Given the description of an element on the screen output the (x, y) to click on. 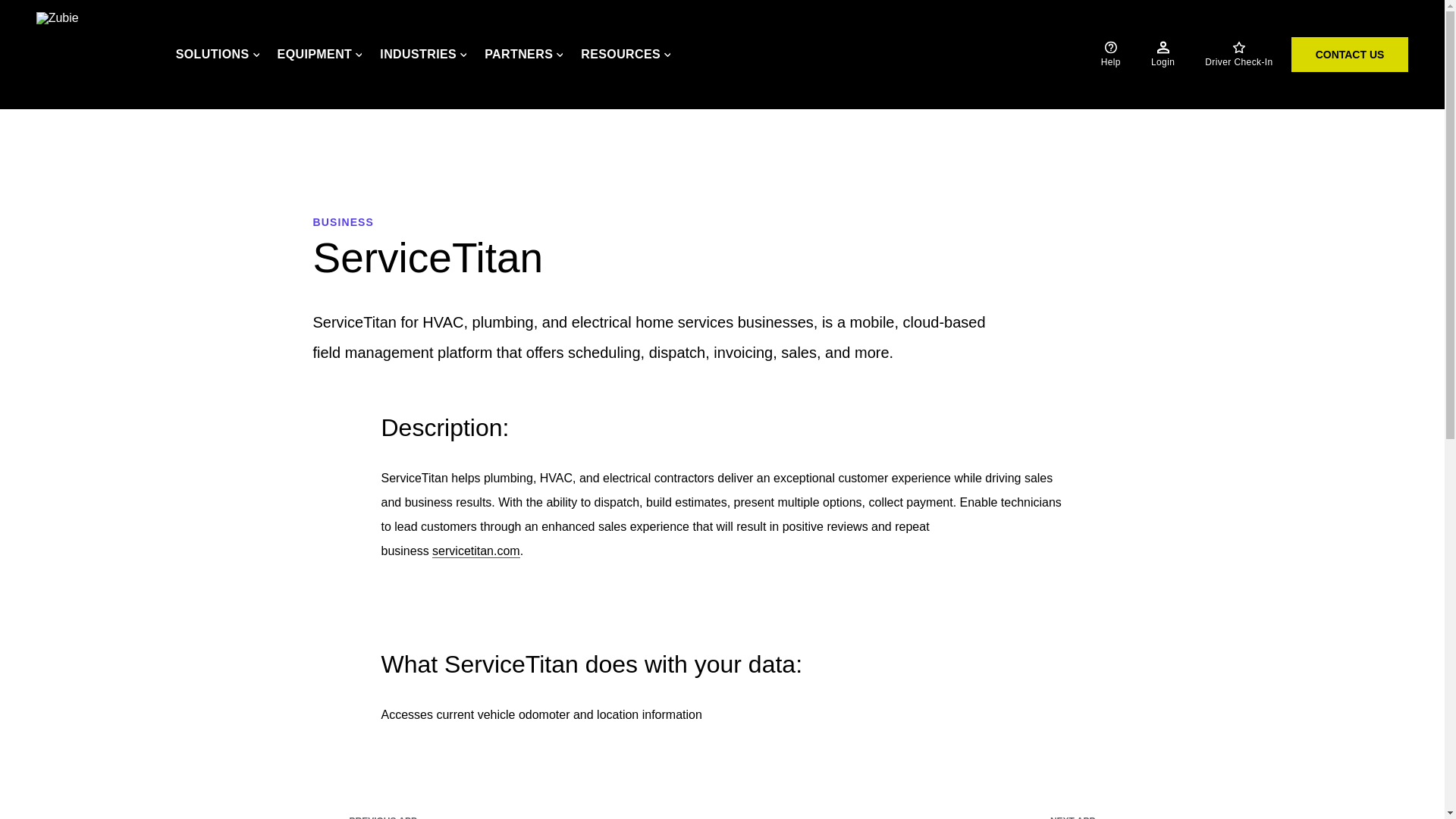
PARTNERS (523, 54)
SOLUTIONS (217, 54)
RESOURCES (624, 54)
EQUIPMENT (320, 54)
INDUSTRIES (422, 54)
